Given the description of an element on the screen output the (x, y) to click on. 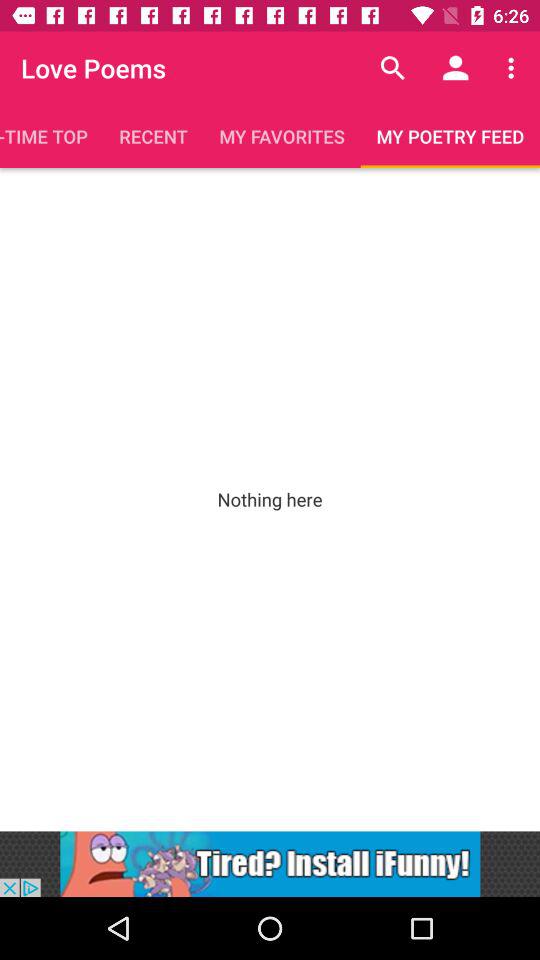
link to site (270, 864)
